Given the description of an element on the screen output the (x, y) to click on. 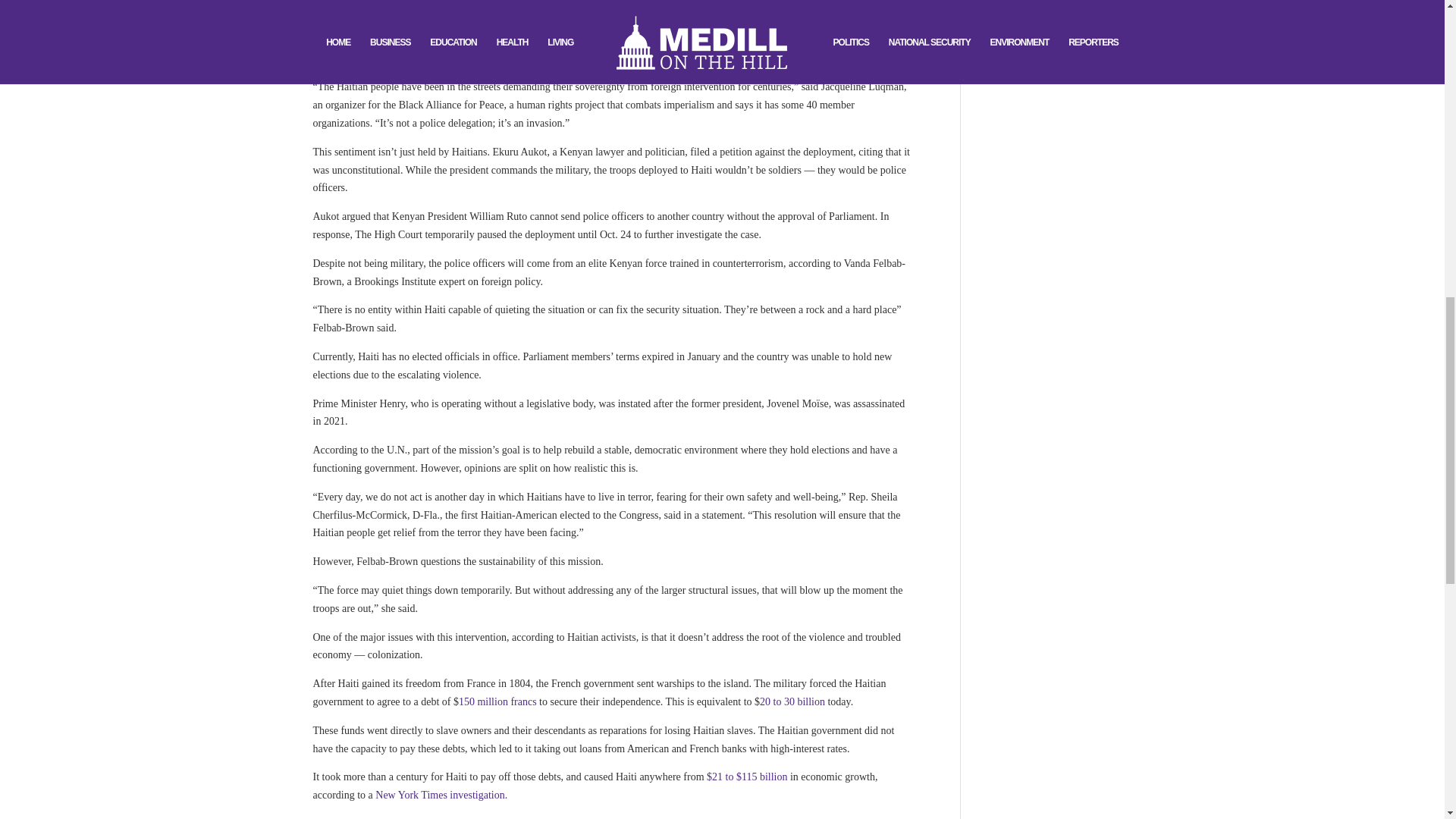
20 to 30 billion (792, 701)
Thousands (858, 11)
150 million francs (497, 701)
New York Times investigation. (440, 794)
